Given the description of an element on the screen output the (x, y) to click on. 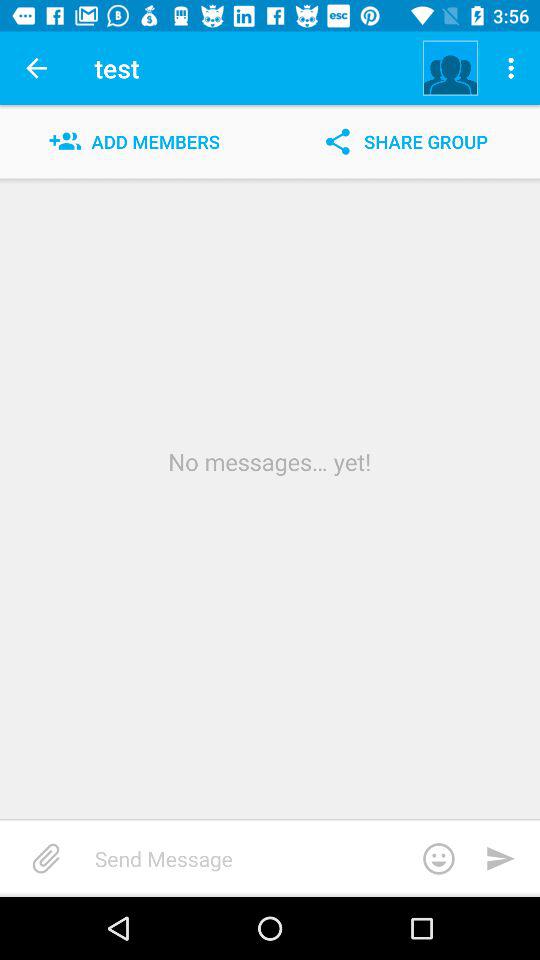
launch icon to the right of the test item (450, 67)
